Given the description of an element on the screen output the (x, y) to click on. 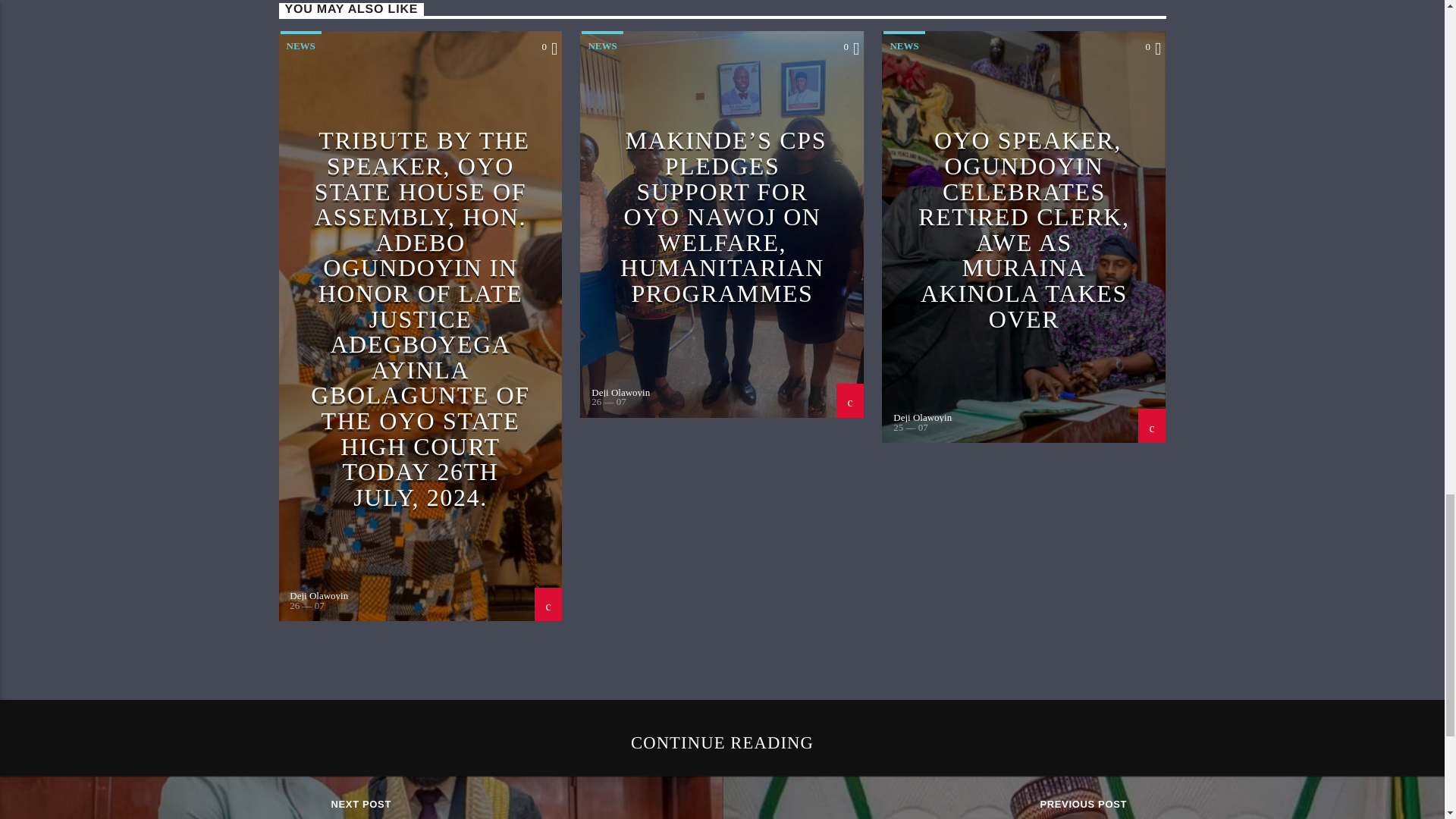
Posts by Deji Olawoyin (620, 392)
NEWS (903, 44)
Deji Olawoyin (620, 392)
NEWS (301, 44)
Deji Olawoyin (318, 595)
Posts by Deji Olawoyin (318, 595)
NEWS (601, 44)
Deji Olawoyin (922, 417)
Posts by Deji Olawoyin (922, 417)
